Given the description of an element on the screen output the (x, y) to click on. 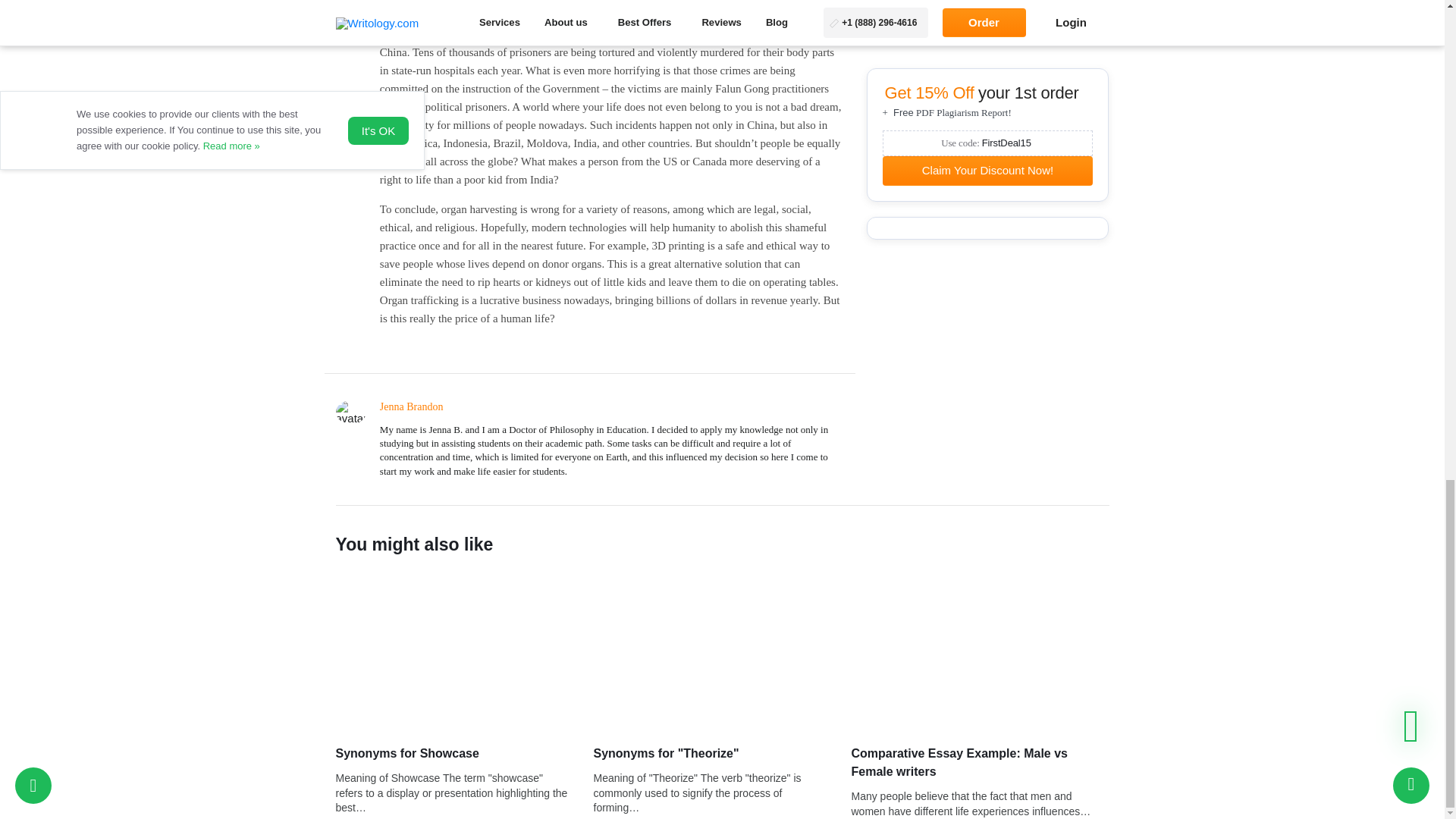
Comparative Essay Example: Male vs Female writers (979, 652)
Synonyms for Showcase (451, 753)
Synonyms for  (721, 652)
Comparative Essay Example: Male vs Female writers (979, 762)
Synonyms for Showcase (463, 652)
Synonyms for  (709, 753)
